Given the description of an element on the screen output the (x, y) to click on. 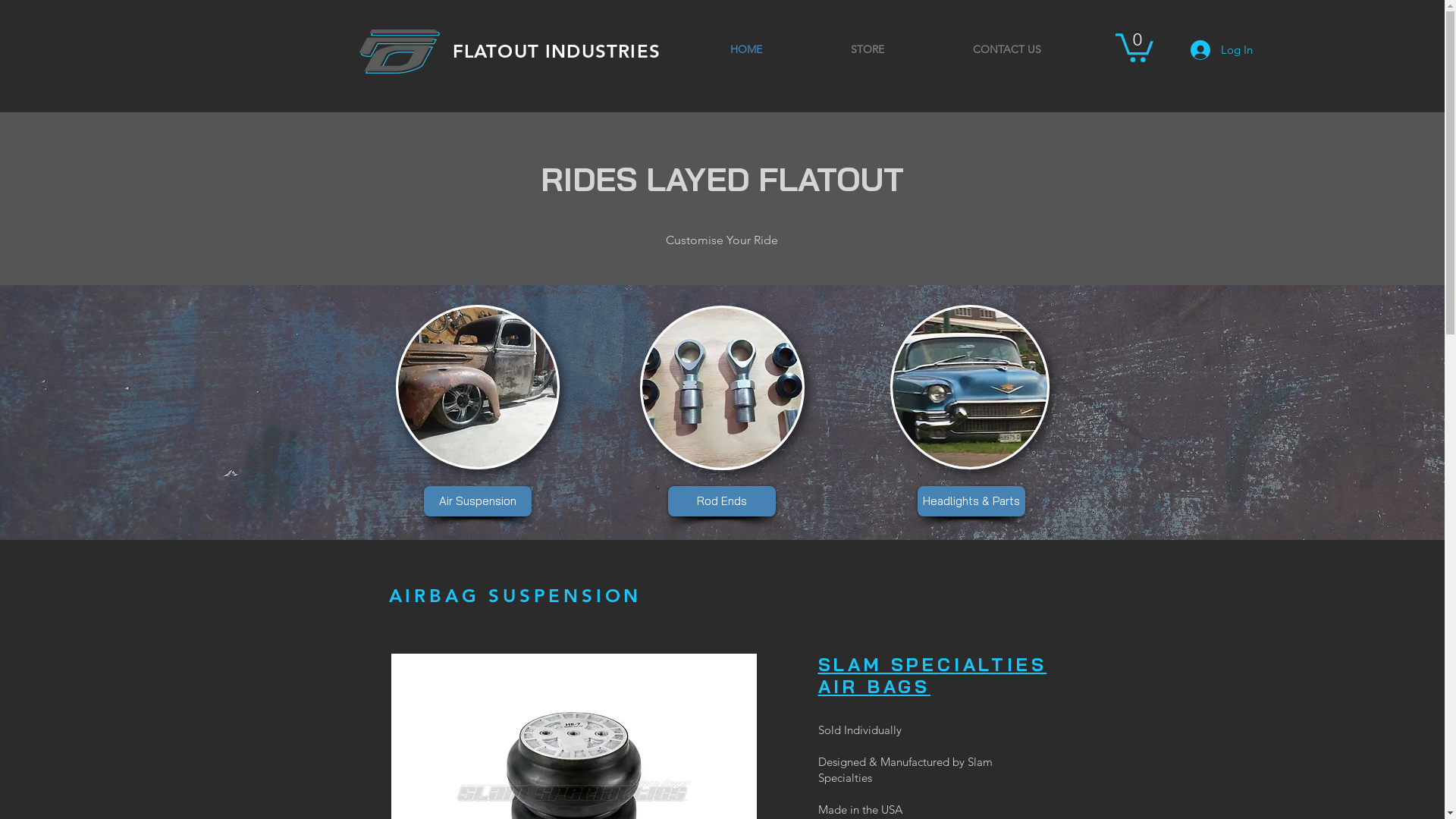
HOME Element type: text (745, 48)
guy2.jpg Element type: hover (477, 386)
Headlights & Parts Element type: text (971, 501)
guy4.jpg Element type: hover (722, 387)
SLAM SPECIALTIES
AIR BAGS Element type: text (931, 675)
guy3.jpg Element type: hover (969, 386)
Rod Ends Element type: text (721, 501)
Log In Element type: text (1221, 48)
FLATOUT INDUSTRIES Element type: text (555, 51)
0 Element type: text (1133, 46)
Air Suspension Element type: text (476, 501)
STORE Element type: text (867, 48)
CONTACT US Element type: text (1006, 48)
